Given the description of an element on the screen output the (x, y) to click on. 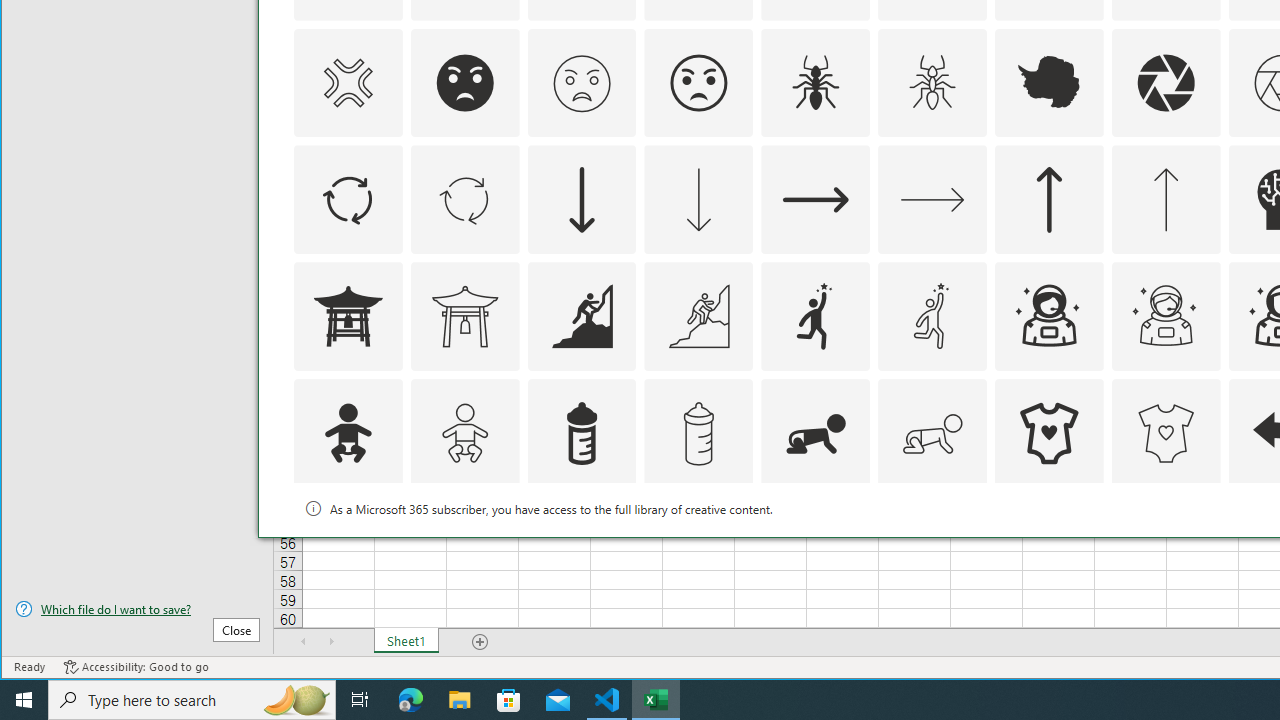
AutomationID: Icons_Badge5 (1165, 550)
Search highlights icon opens search home window (295, 699)
AutomationID: Icons_AngerSymbol_M (348, 82)
AutomationID: Icons_Ant_M (932, 82)
AutomationID: Icons (1049, 550)
AutomationID: Icons_Badge10_M (348, 550)
Thumbnail (1205, 511)
Microsoft Store (509, 699)
